Given the description of an element on the screen output the (x, y) to click on. 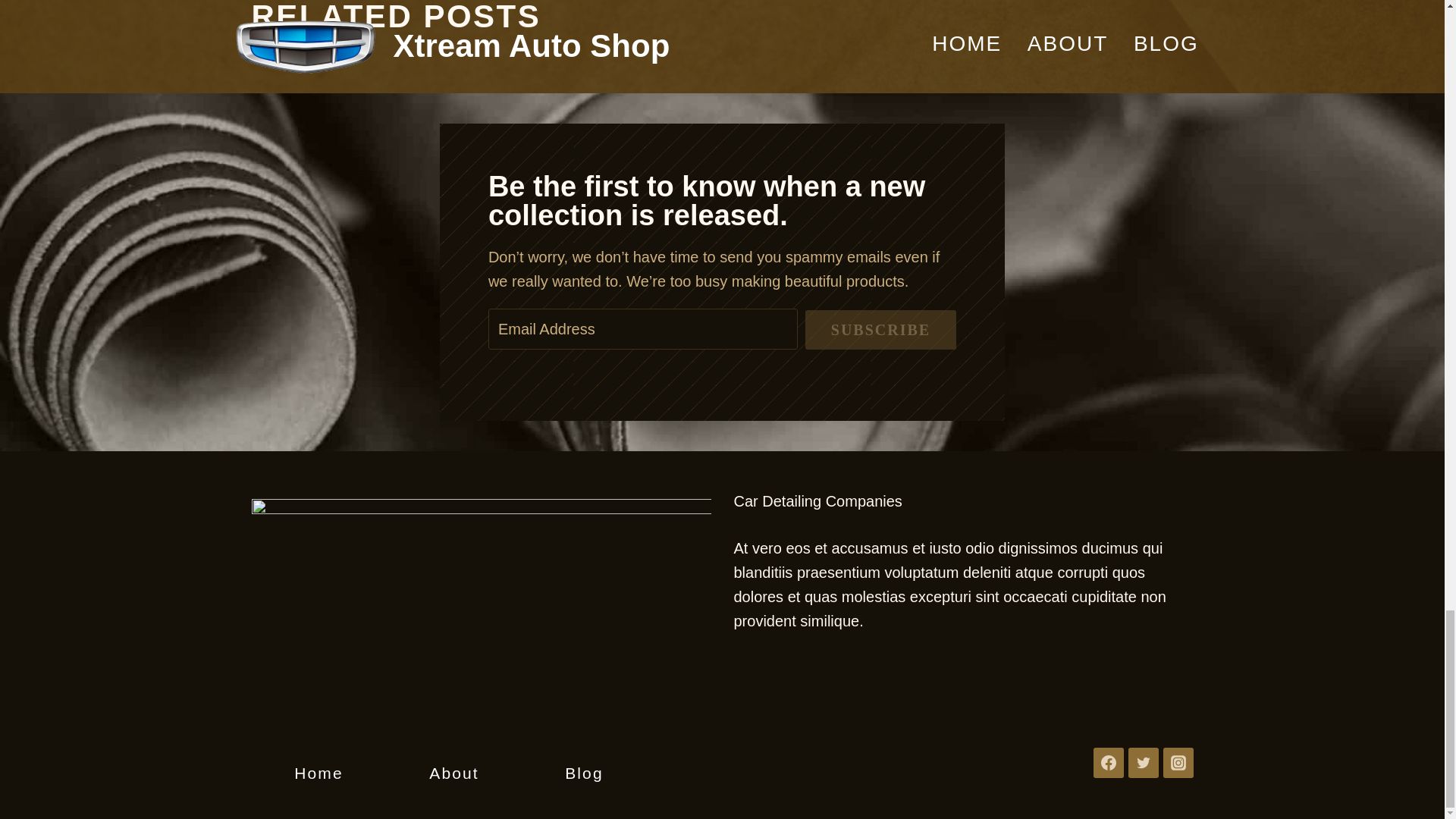
About (454, 773)
SUBSCRIBE (880, 329)
Home (318, 773)
